Given the description of an element on the screen output the (x, y) to click on. 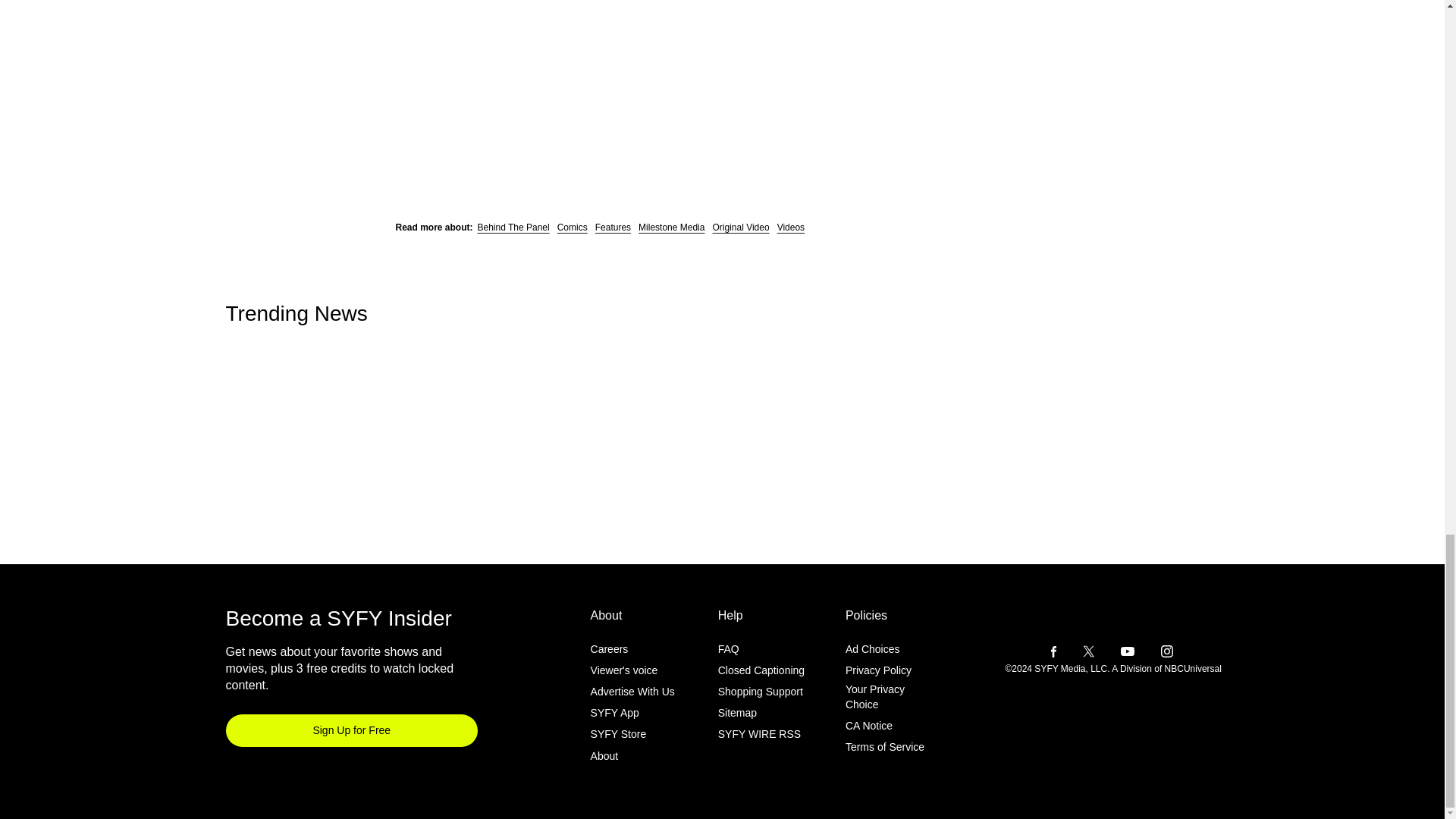
Videos (791, 226)
Comics (572, 226)
Advertise With Us (633, 691)
Original Video (739, 226)
Behind The Panel (513, 226)
Features (612, 226)
Milestone Media (671, 226)
